Given the description of an element on the screen output the (x, y) to click on. 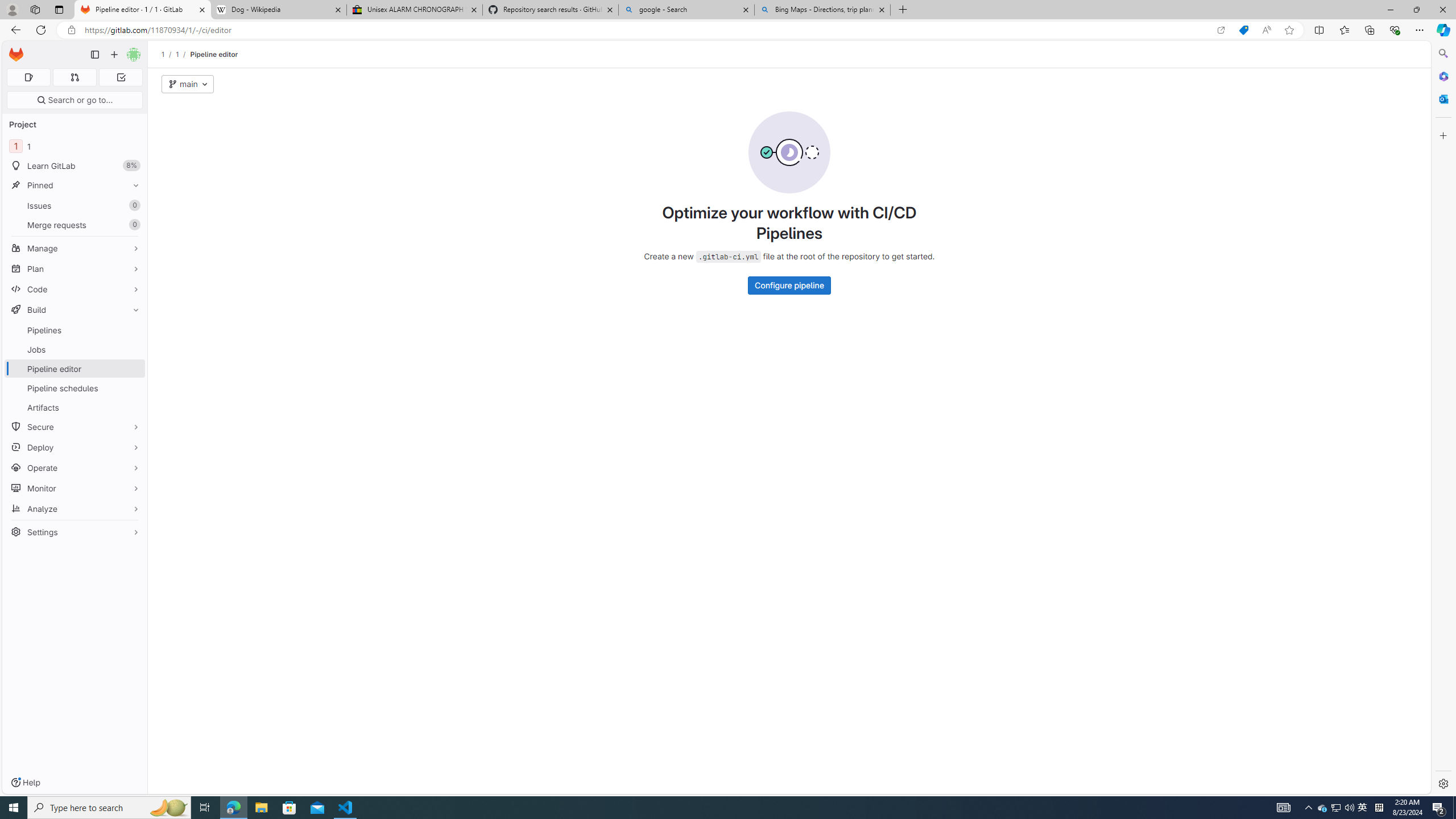
Create new... (113, 54)
Configure pipeline (789, 285)
BuildPipelinesJobsPipeline editorPipeline schedulesArtifacts (74, 358)
Monitor (74, 488)
Unpin Issues (132, 205)
Artifacts (74, 407)
11 (74, 145)
